Given the description of an element on the screen output the (x, y) to click on. 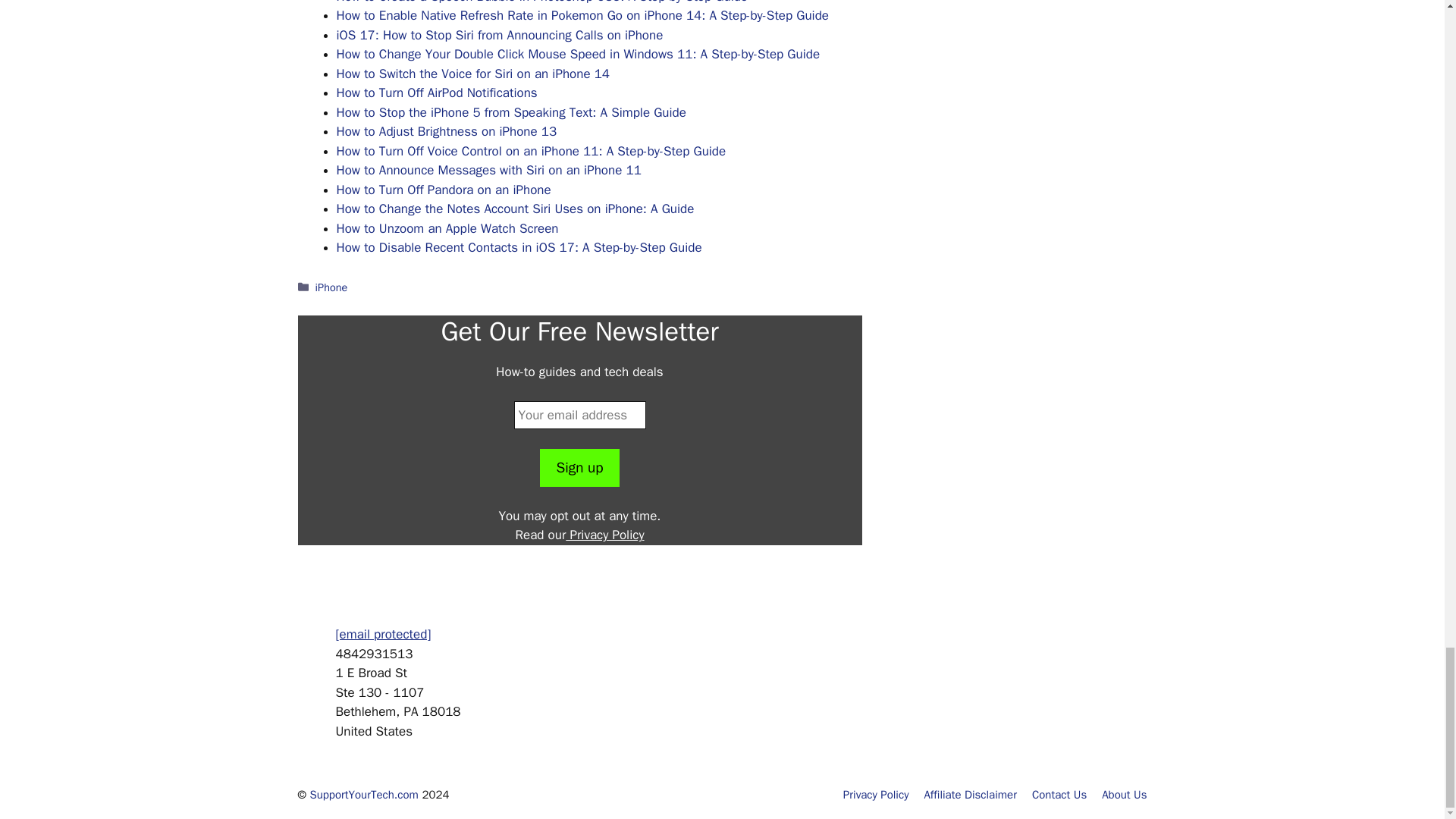
How to Announce Messages with Siri on an iPhone 11 (489, 170)
How to Change the Notes Account Siri Uses on iPhone: A Guide (515, 208)
How to Adjust Brightness on iPhone 13 (446, 131)
How to Turn Off AirPod Notifications (436, 92)
Sign up (579, 467)
iPhone (331, 287)
How to Switch the Voice for Siri on an iPhone 14 (473, 73)
How to Stop the iPhone 5 from Speaking Text: A Simple Guide (510, 112)
